Given the description of an element on the screen output the (x, y) to click on. 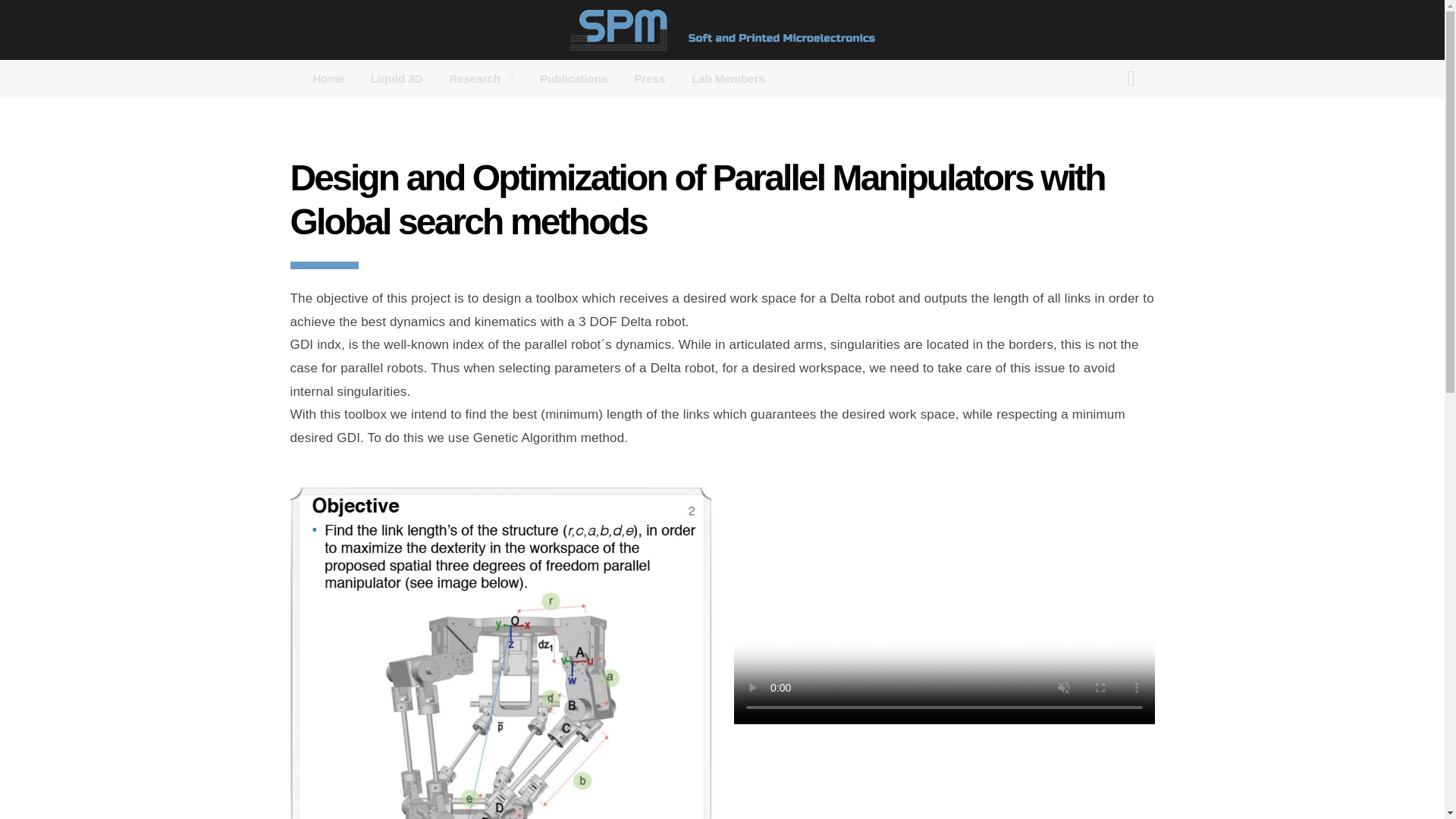
Home (334, 77)
Press (650, 77)
Publications (573, 77)
Lab Members (722, 77)
Liquid 3D (526, 78)
Research (396, 77)
